Given the description of an element on the screen output the (x, y) to click on. 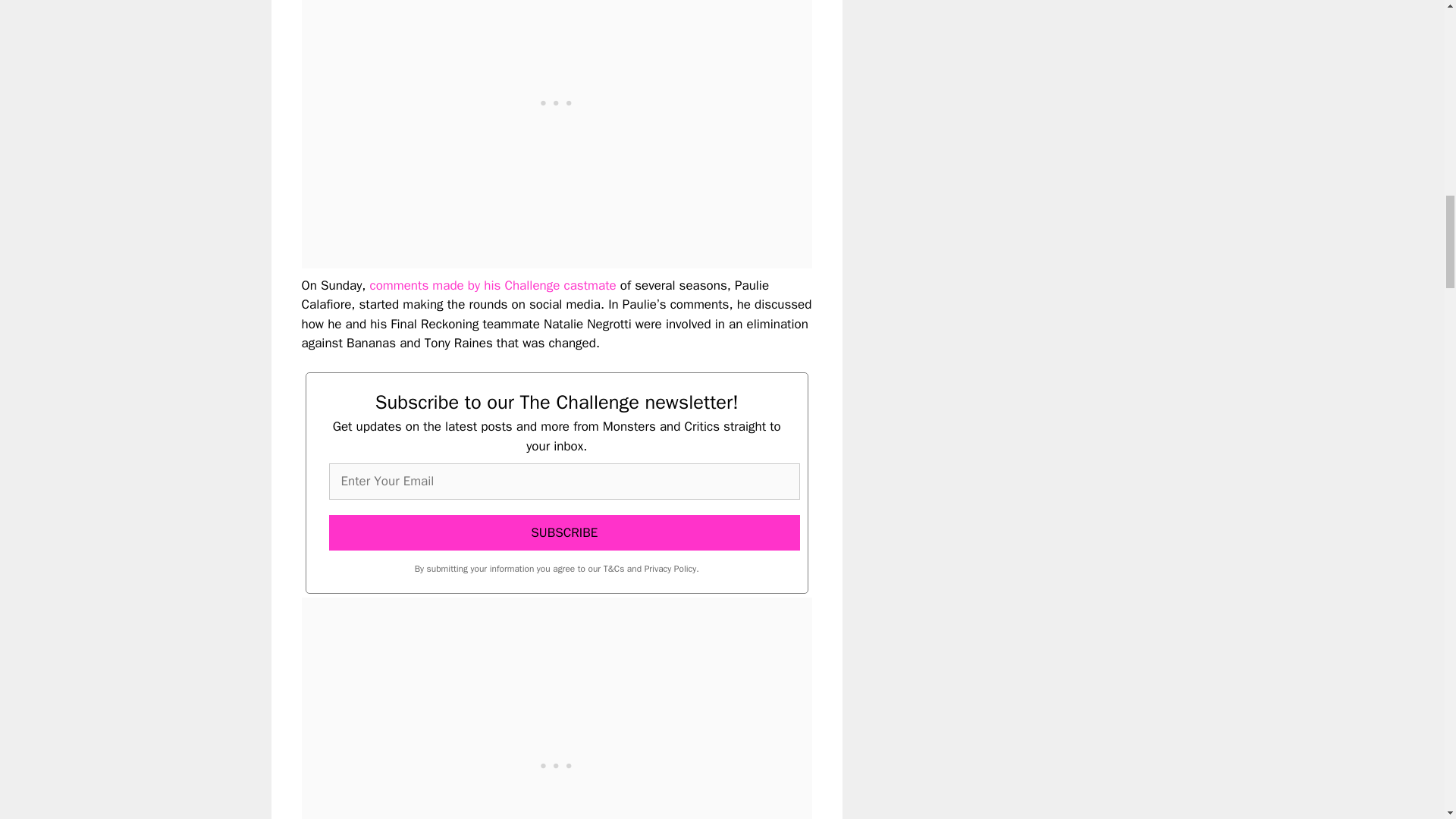
comments made by his Challenge castmate (492, 285)
SUBSCRIBE (564, 533)
SUBSCRIBE (564, 533)
